Given the description of an element on the screen output the (x, y) to click on. 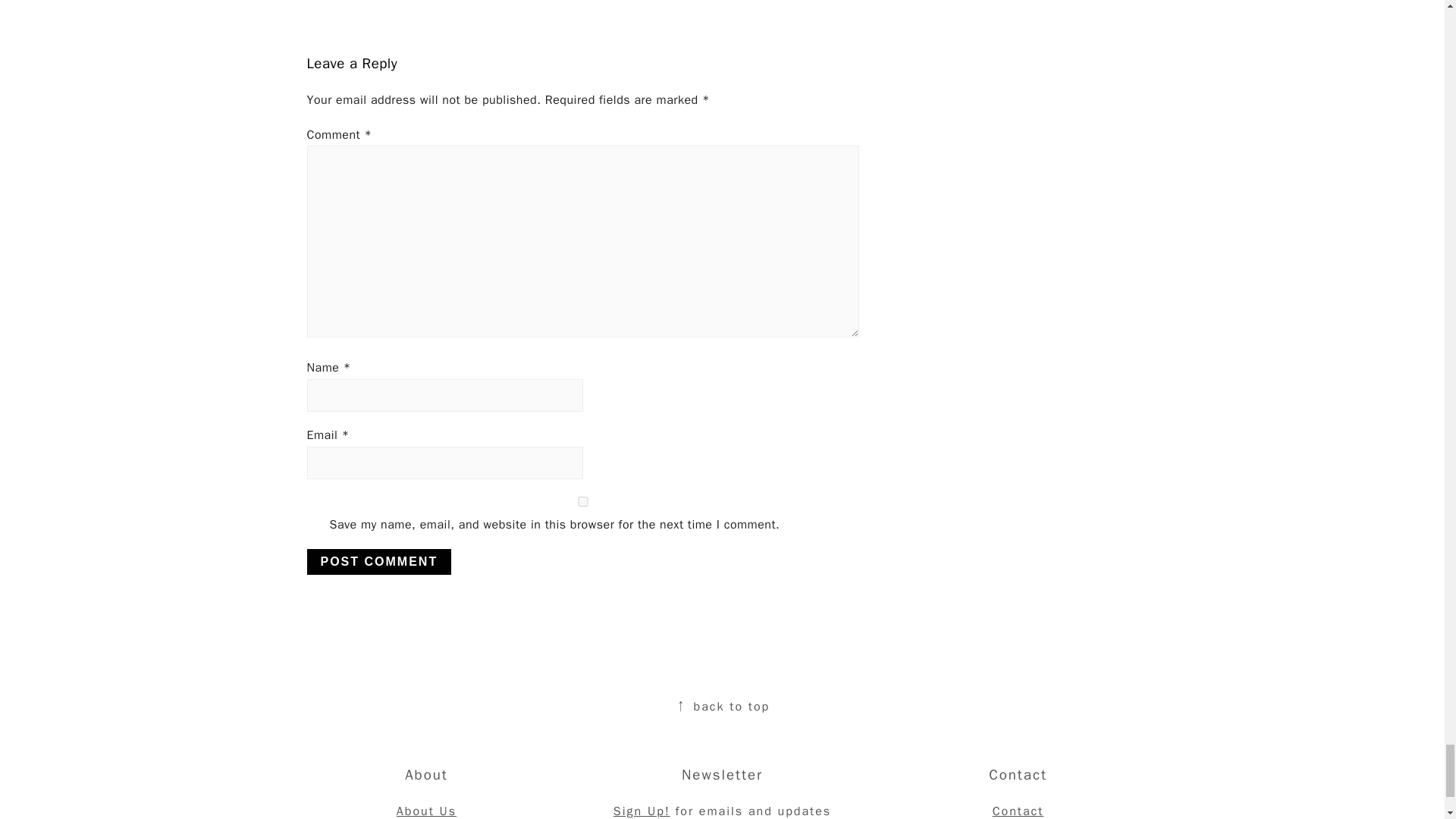
Post Comment (378, 561)
yes (582, 501)
